Given the description of an element on the screen output the (x, y) to click on. 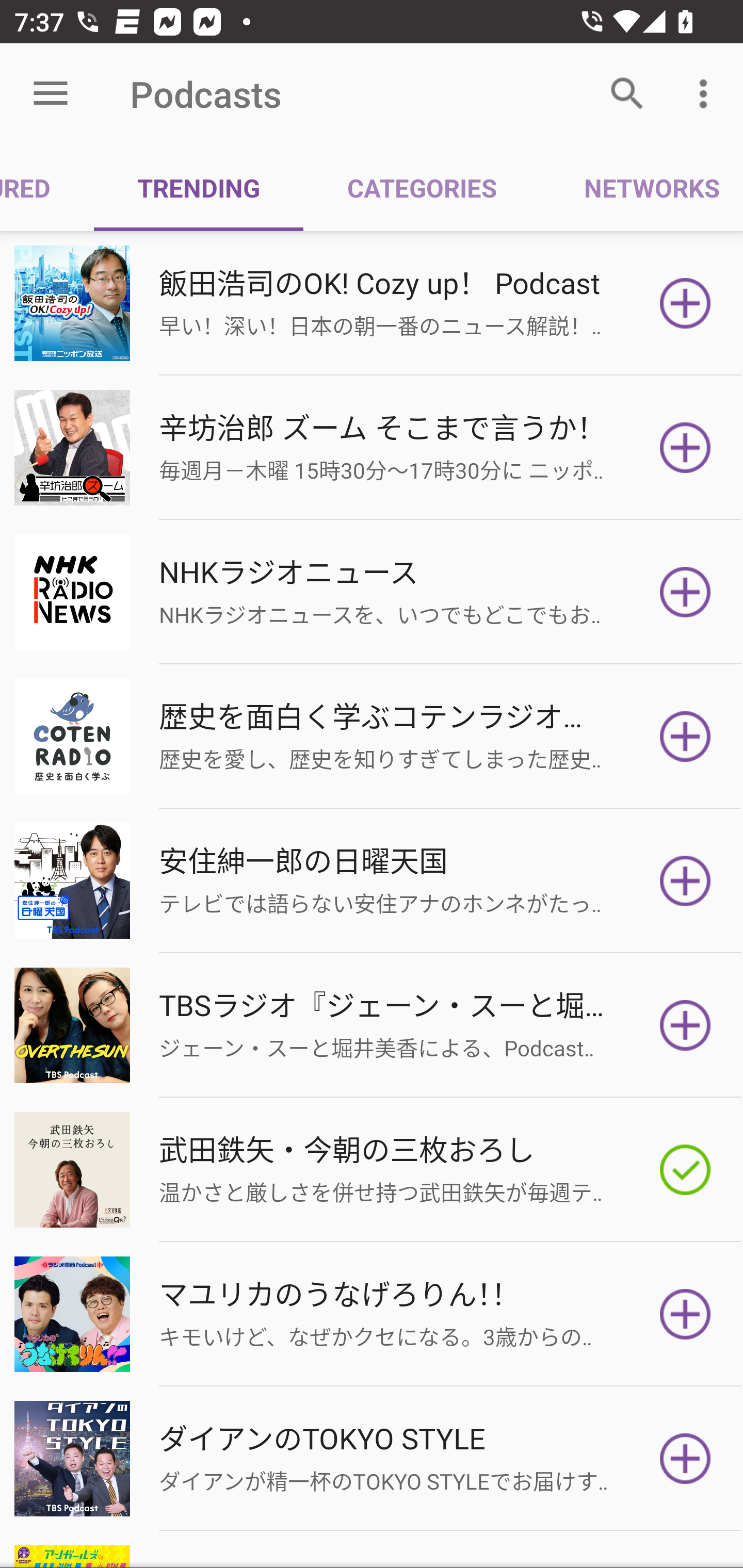
Open menu (50, 93)
Search (626, 93)
More options (706, 93)
TRENDING (198, 187)
CATEGORIES (421, 187)
NETWORKS (641, 187)
Subscribe (685, 303)
Picture (371, 447)
Subscribe (685, 591)
Subscribe (685, 736)
Subscribe (685, 881)
